Given the description of an element on the screen output the (x, y) to click on. 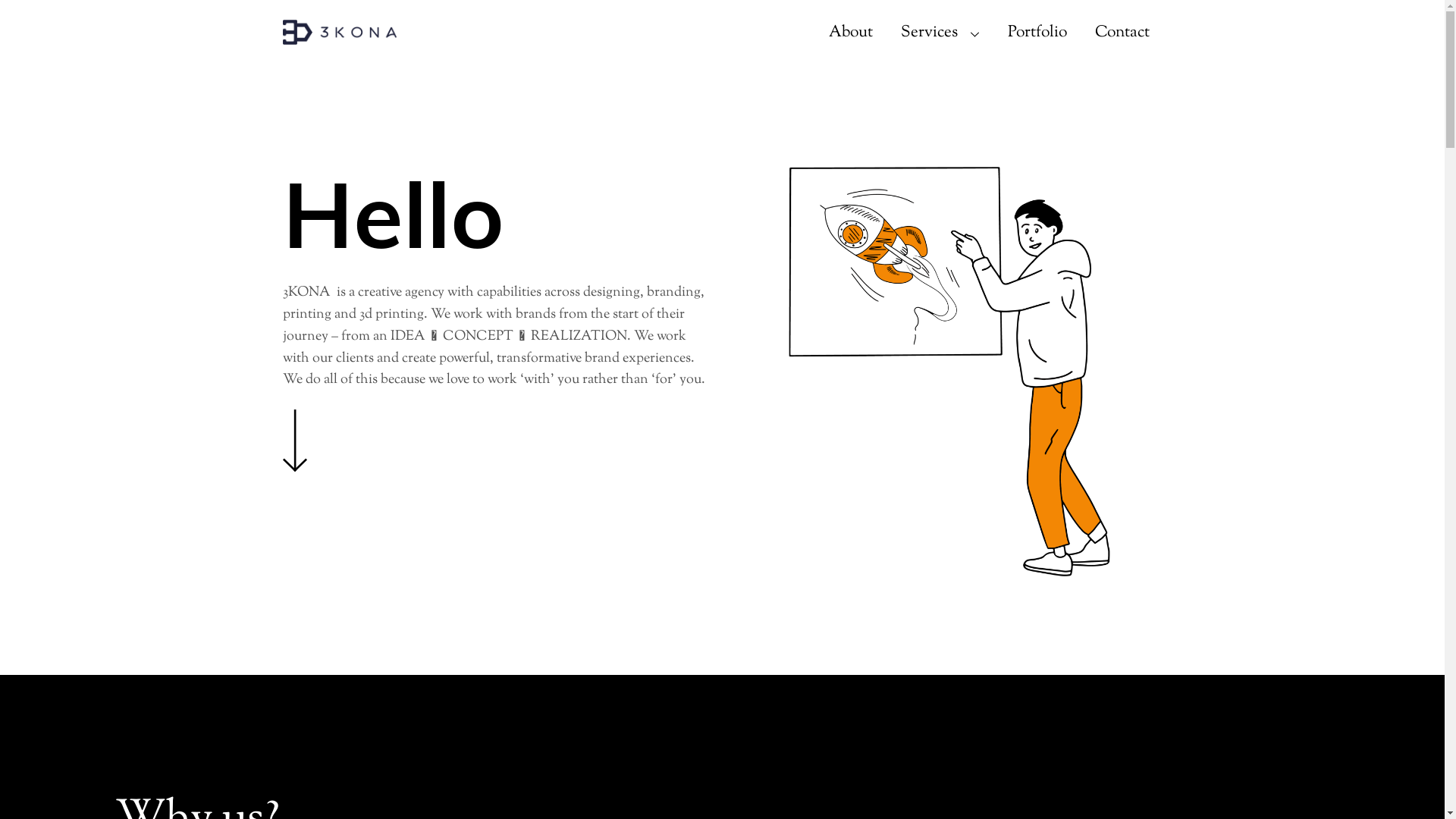
Home Element type: hover (294, 440)
Services Element type: text (940, 33)
3KONA Logo New Element type: hover (338, 31)
About Element type: text (850, 33)
Contact Element type: text (1121, 33)
product-launch-in-business-startup-1580190 Element type: hover (948, 371)
3KONA Element type: hover (338, 35)
Portfolio Element type: text (1036, 33)
